Given the description of an element on the screen output the (x, y) to click on. 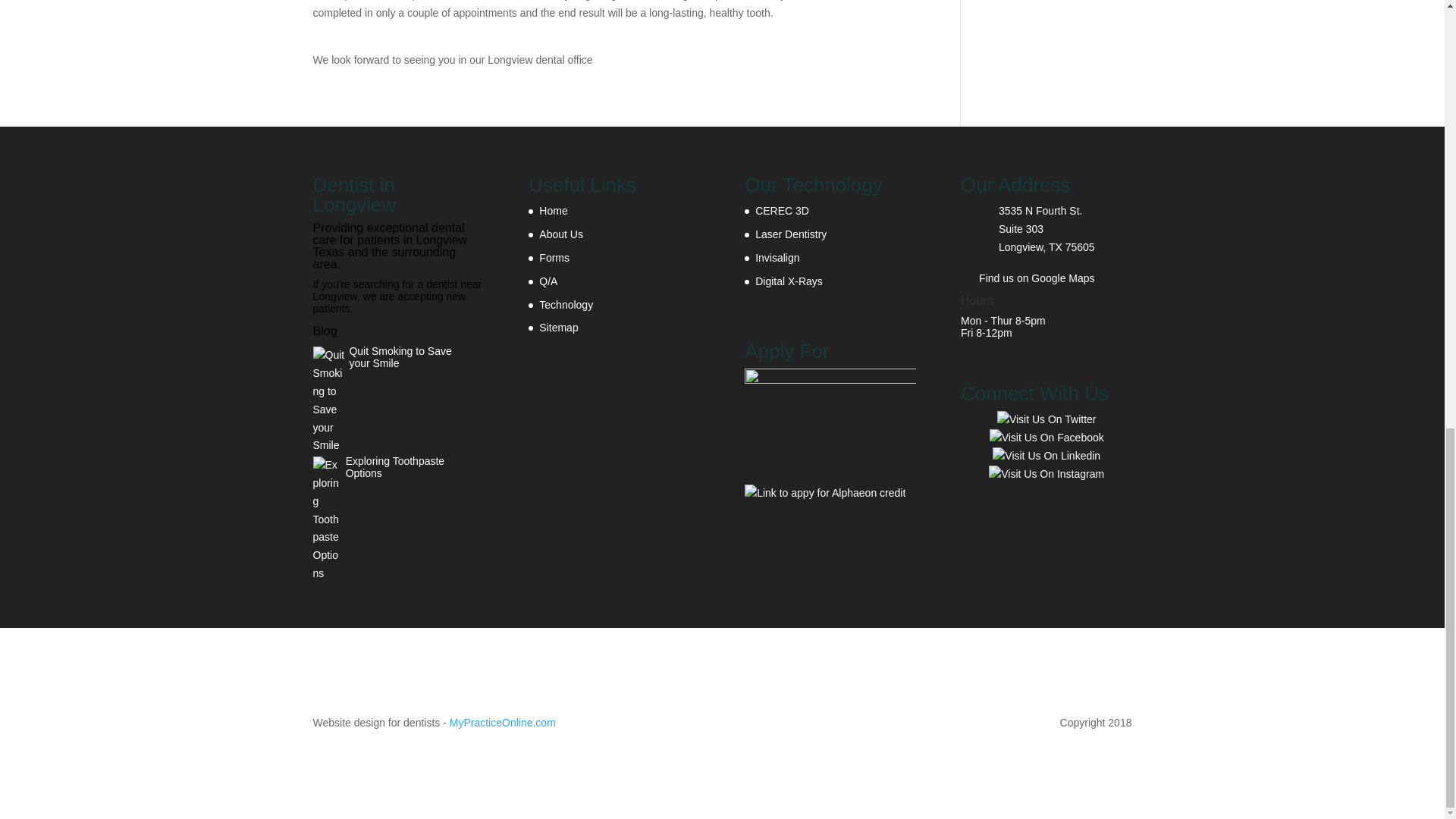
Laser Dentistry (791, 234)
Forms (553, 257)
Home (552, 210)
CEREC 3D (782, 210)
Quit Smoking to Save your Smile (390, 356)
About Us (560, 234)
Sitemap (558, 327)
Visit Us On Twitter (1045, 419)
Invisalign (777, 257)
Technology (565, 304)
Exploring Toothpaste Options (382, 467)
Visit Us On Facebook (1045, 437)
Visit Us On Instagram (1045, 472)
Visit Us On Linkedin (1045, 455)
